Given the description of an element on the screen output the (x, y) to click on. 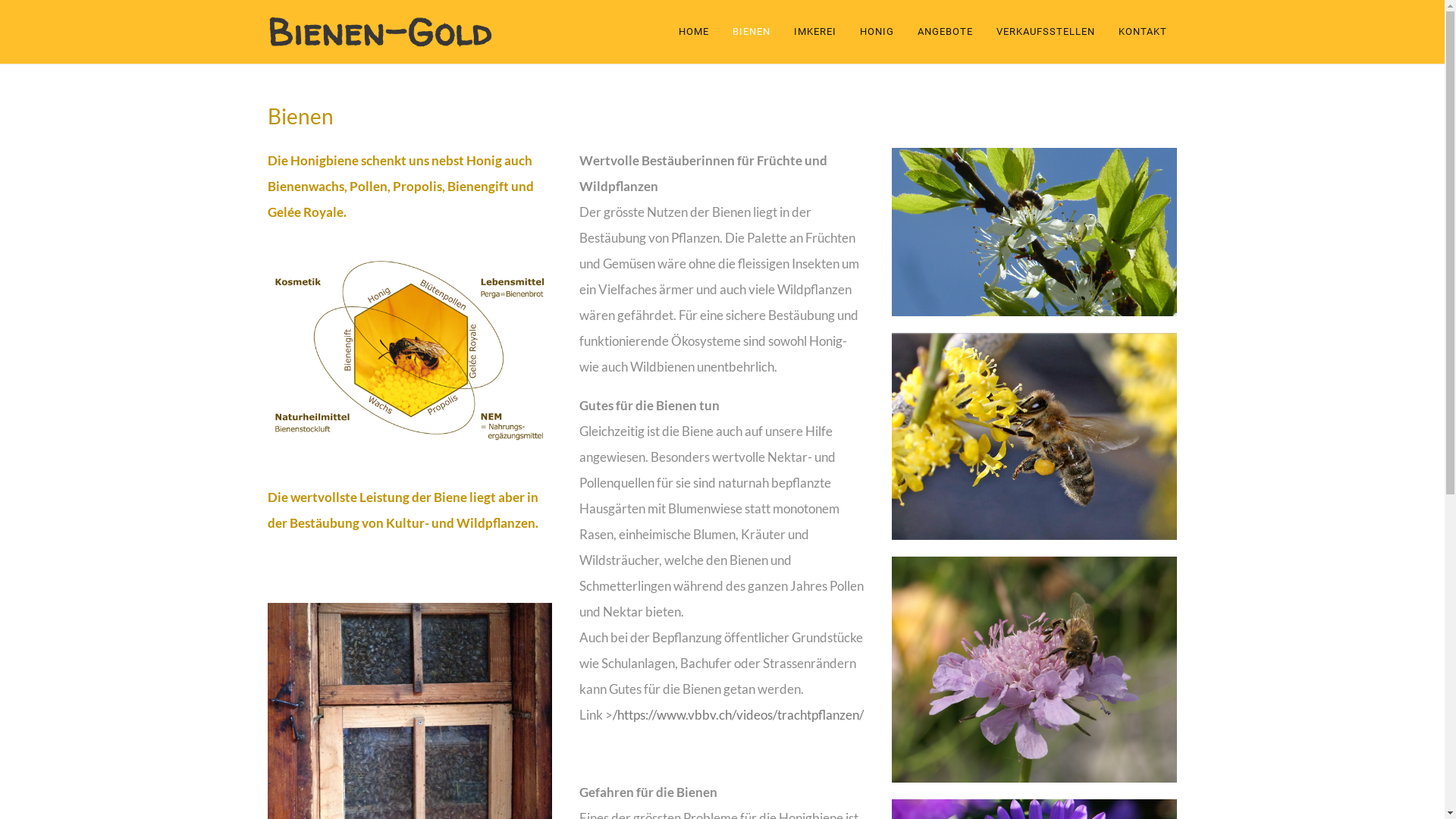
ANGEBOTE Element type: text (944, 31)
BIENEN Element type: text (751, 31)
IMKEREI Element type: text (814, 31)
https://www.vbbv.ch/videos/trachtpflanzen/ Element type: text (740, 714)
Bienen-Gold Element type: text (378, 31)
HONIG Element type: text (876, 31)
KONTAKT Element type: text (1141, 31)
/ Element type: text (614, 714)
HOME Element type: text (697, 31)
VERKAUFSSTELLEN Element type: text (1045, 31)
